Given the description of an element on the screen output the (x, y) to click on. 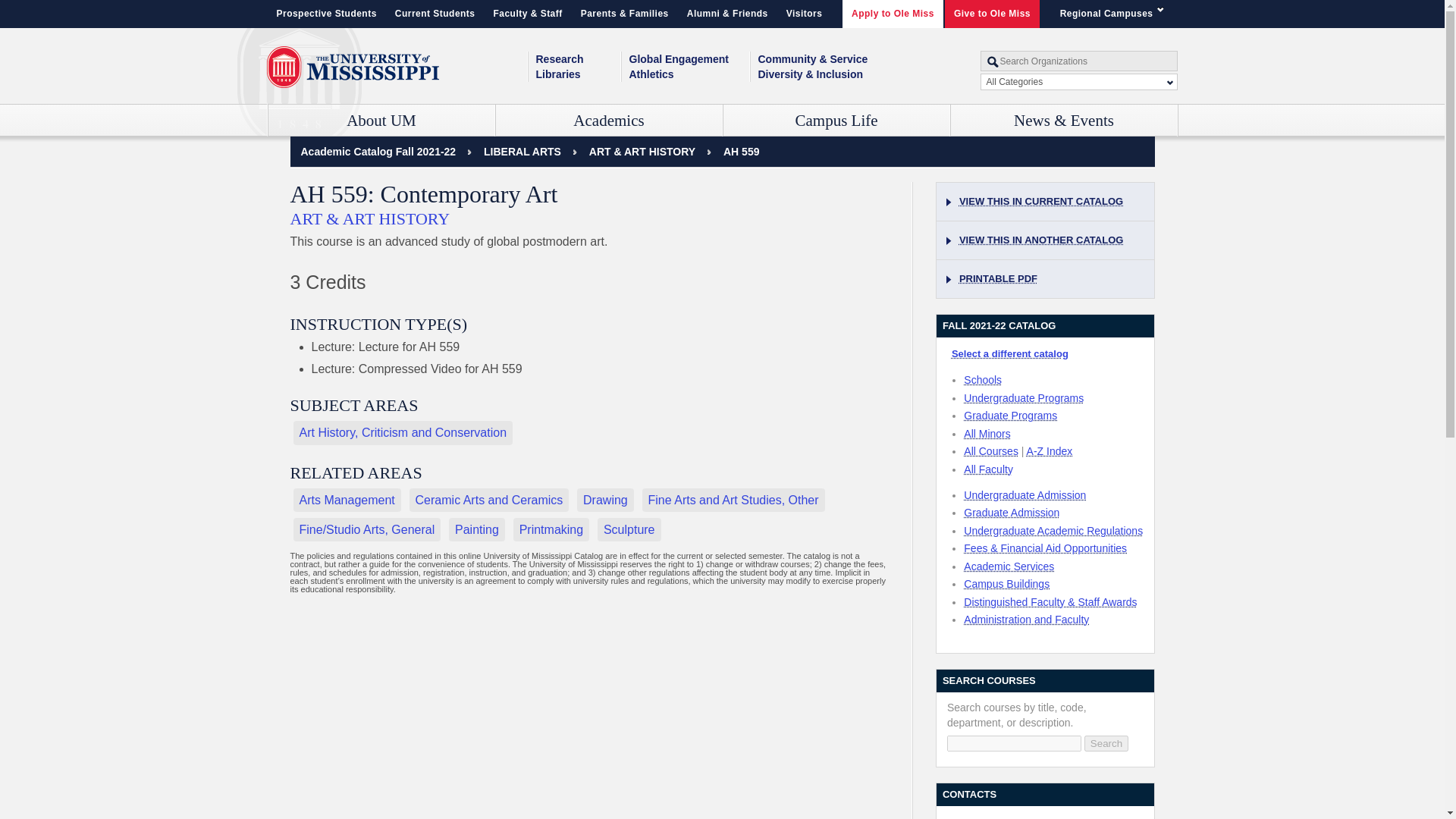
Catalog home page (377, 151)
Give to Ole Miss (991, 13)
Athletics (688, 73)
Academics (609, 120)
Search UM for anything... (1077, 60)
Visitors (804, 13)
Research (577, 58)
Prospective Students (325, 13)
Current Students (434, 13)
Global Engagement (688, 58)
